Given the description of an element on the screen output the (x, y) to click on. 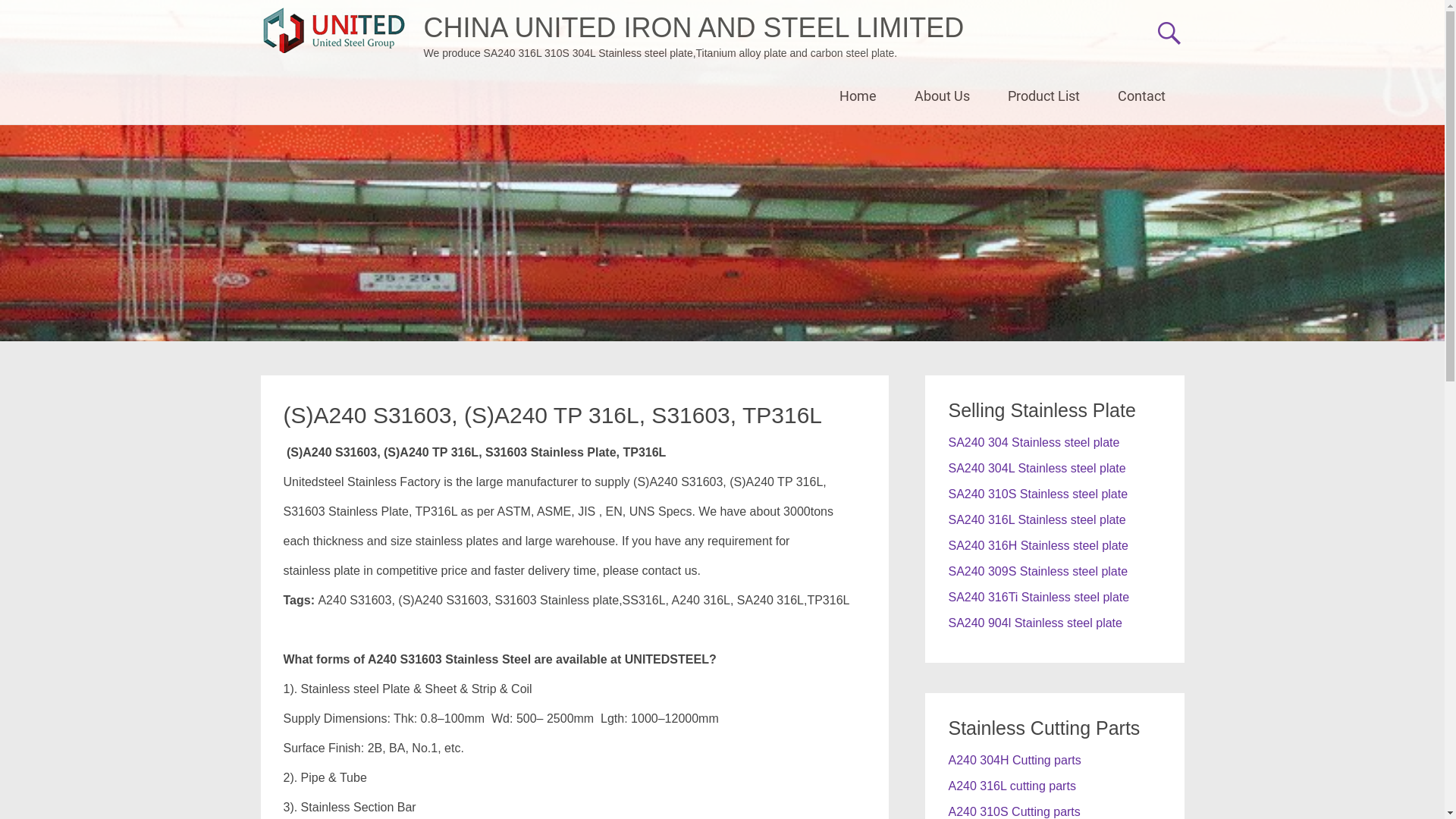
A240 316L cutting parts Element type: text (1011, 785)
SA240 304L Stainless steel plate Element type: text (1036, 467)
CHINA UNITED IRON AND STEEL LIMITED Element type: text (693, 27)
SA240 304 Stainless steel plate Element type: text (1033, 442)
A240 304H Cutting parts Element type: text (1013, 759)
SA240 310S Stainless steel plate Element type: text (1037, 493)
Contact Element type: text (1140, 95)
SA240 316H Stainless steel plate Element type: text (1037, 545)
SA240 309S Stainless steel plate Element type: text (1037, 570)
About Us Element type: text (941, 95)
SA240 316Ti Stainless steel plate Element type: text (1038, 596)
SA240 316L Stainless steel plate Element type: text (1036, 519)
Home Element type: text (857, 95)
SA240 904l Stainless steel plate Element type: text (1034, 622)
A240 310S Cutting parts Element type: text (1013, 811)
Search Element type: text (28, 12)
Product List Element type: text (1043, 95)
